Given the description of an element on the screen output the (x, y) to click on. 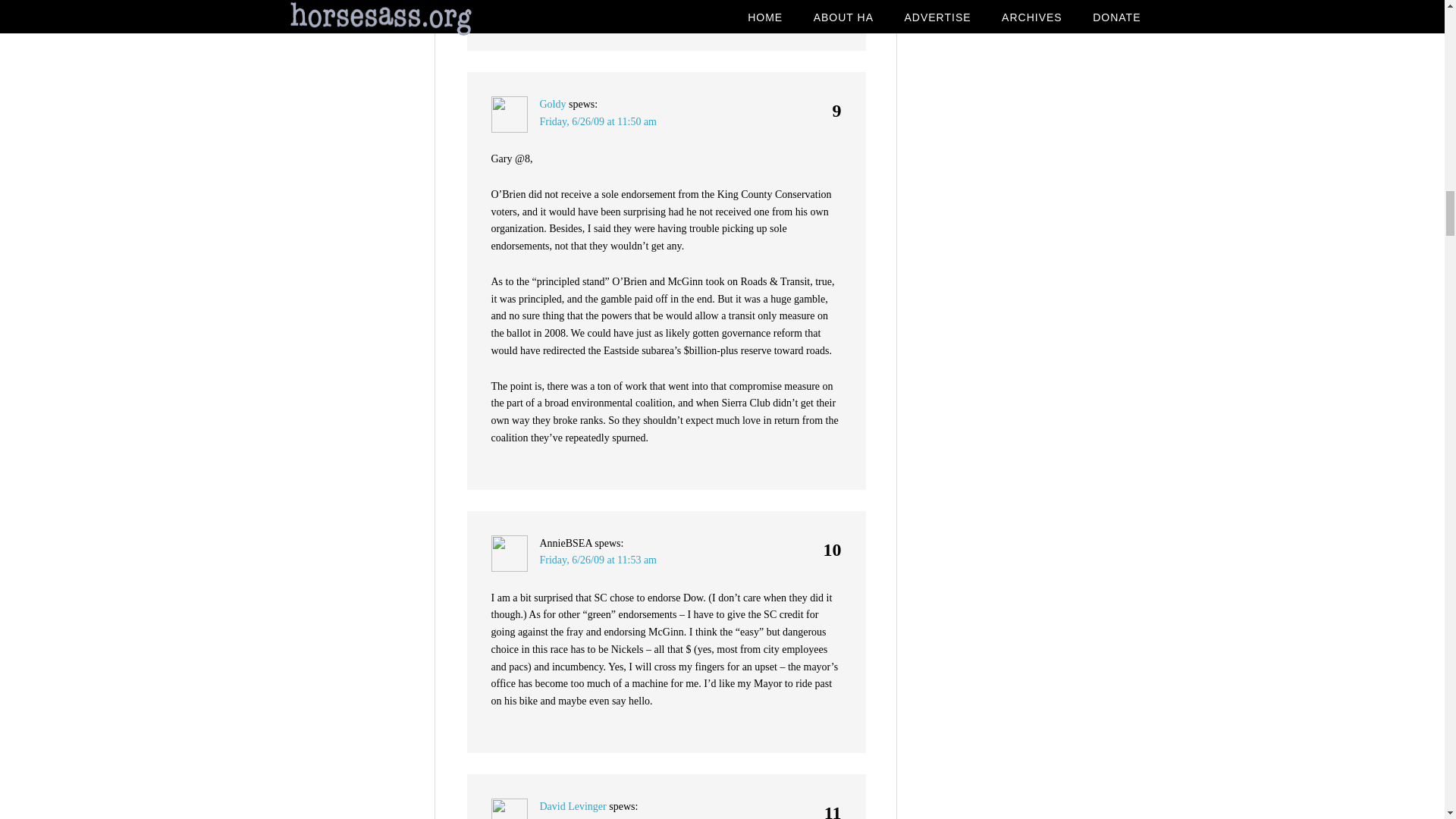
Goldy (553, 103)
David Levinger (573, 806)
